Given the description of an element on the screen output the (x, y) to click on. 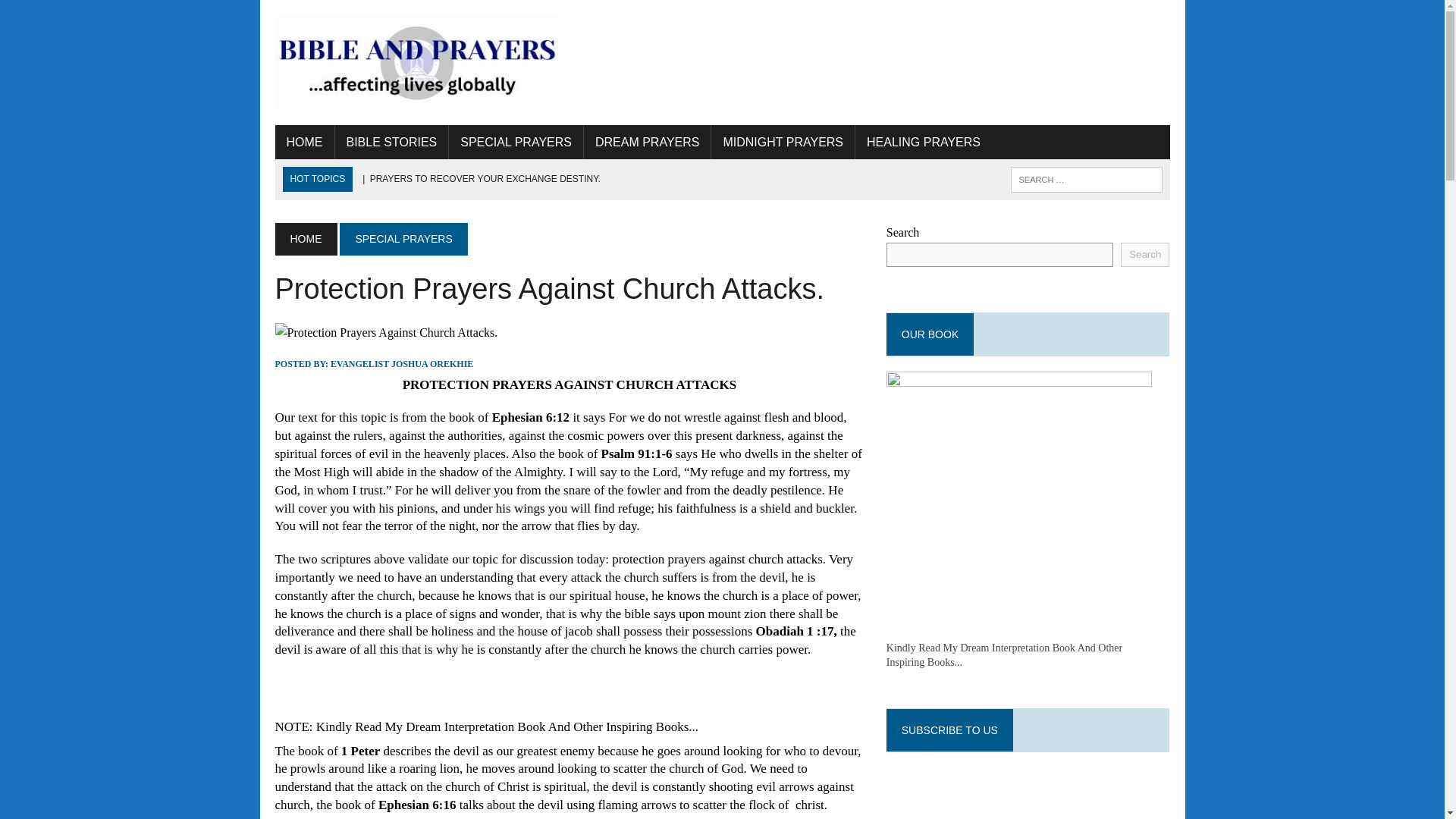
Prayers To Recover Your Exchange Destiny. (479, 178)
Search (1145, 254)
EVANGELIST JOSHUA OREKHIE (401, 363)
HEALING PRAYERS (923, 142)
Bible and Prayers (416, 62)
SPECIAL PRAYERS (515, 142)
DREAM PRAYERS (647, 142)
HOME (304, 142)
Search (75, 14)
MIDNIGHT PRAYERS (782, 142)
